Given the description of an element on the screen output the (x, y) to click on. 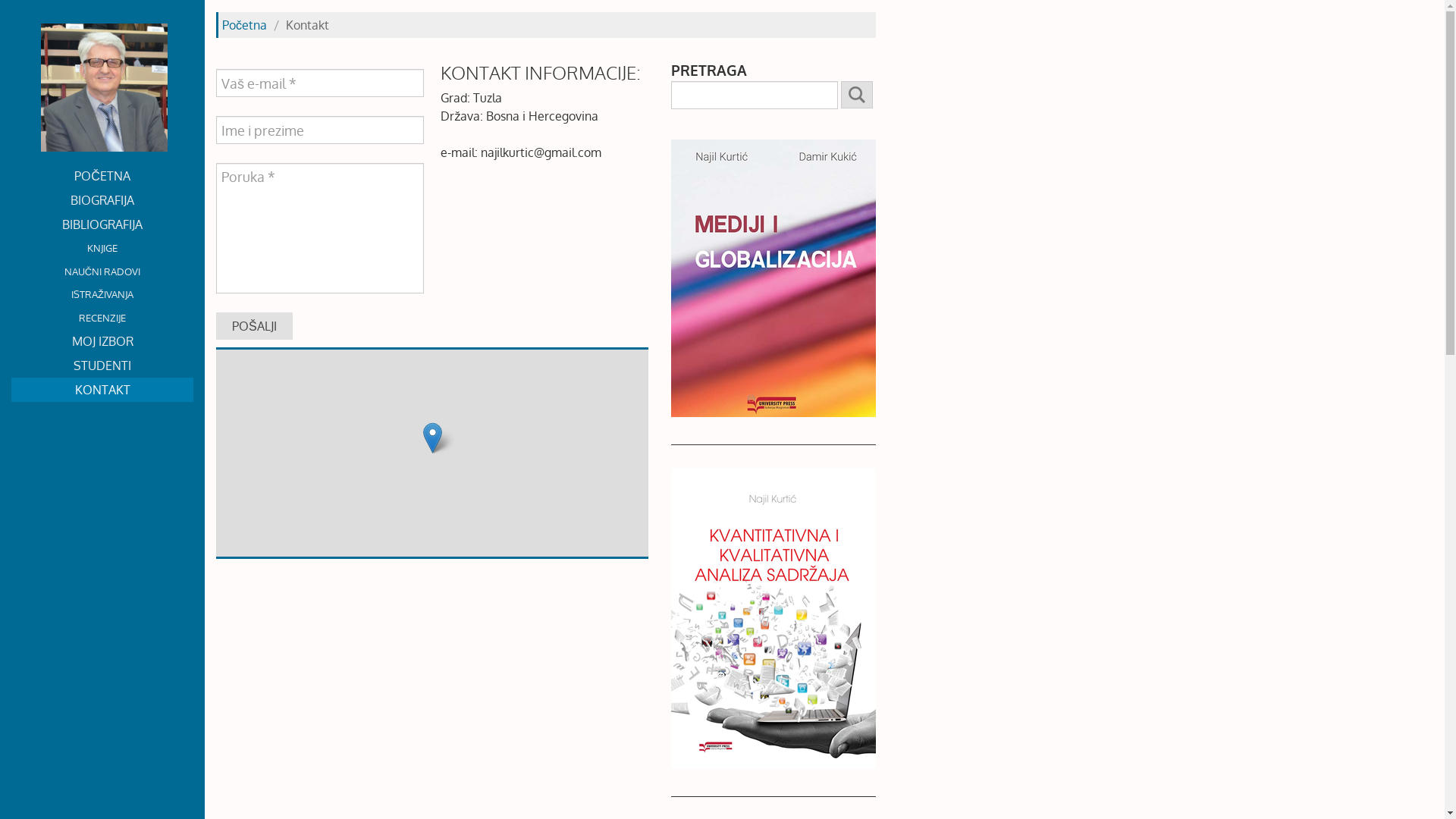
KONTAKT Element type: text (102, 389)
Pretraga Element type: text (856, 94)
KNJIGE Element type: text (102, 248)
MOJ IZBOR Element type: text (102, 341)
BIBLIOGRAFIJA Element type: text (102, 224)
STUDENTI Element type: text (102, 365)
RECENZIJE Element type: text (102, 317)
BIOGRAFIJA Element type: text (102, 200)
